Given the description of an element on the screen output the (x, y) to click on. 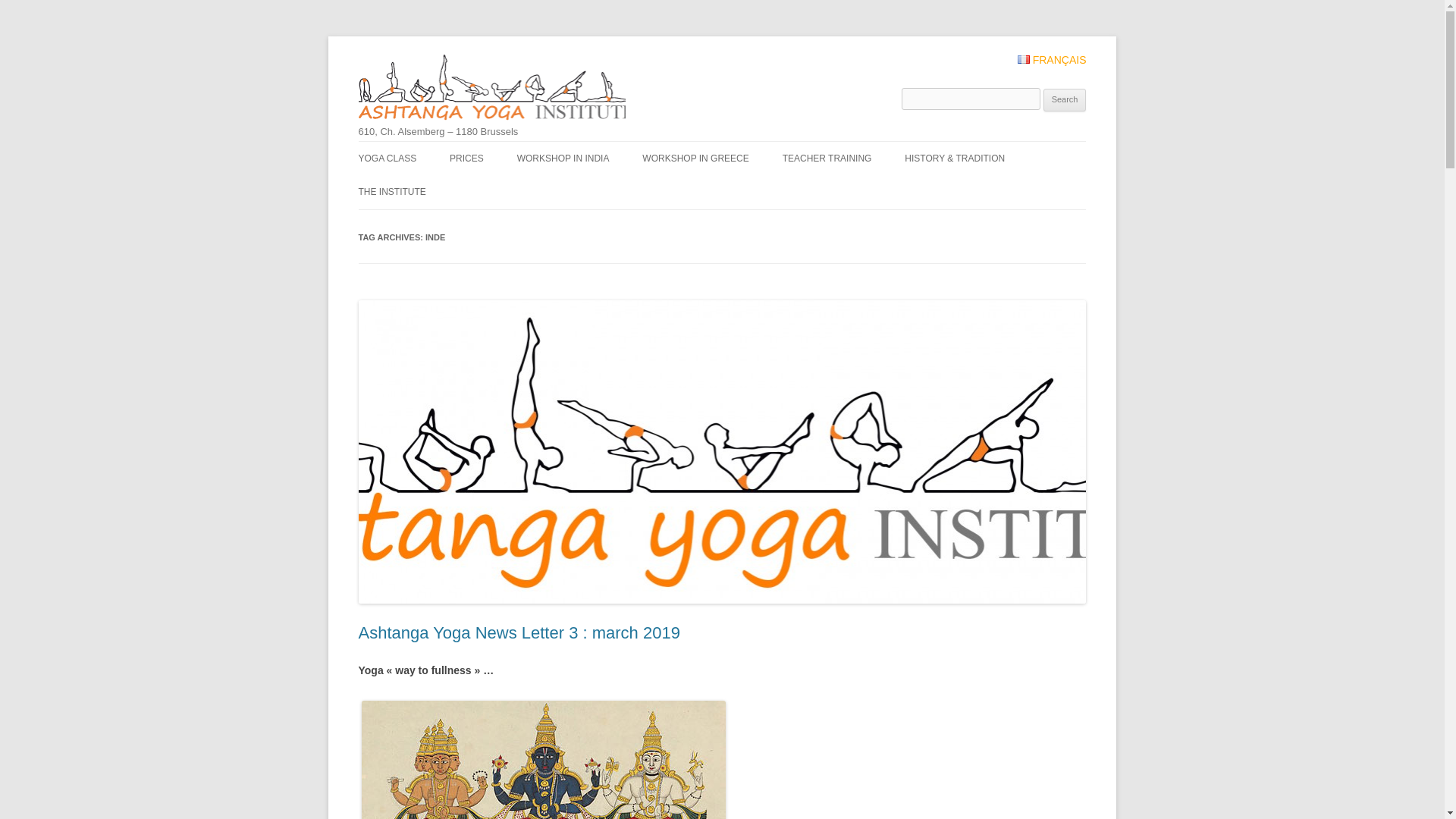
PRICES (466, 158)
WORKSHOP IN INDIA (563, 158)
TEACHER TRAINING (827, 158)
Prices for the lessons Ashtanga Yoga Institute (466, 158)
WORKSHOP IN GREECE (695, 158)
Yoga teacher training (827, 158)
Search (1064, 99)
YOGA CLASS (387, 158)
THE INSTITUTE (391, 191)
Search (1064, 99)
Ashtanga Yoga News Letter 3 : march 2019 (518, 632)
